Given the description of an element on the screen output the (x, y) to click on. 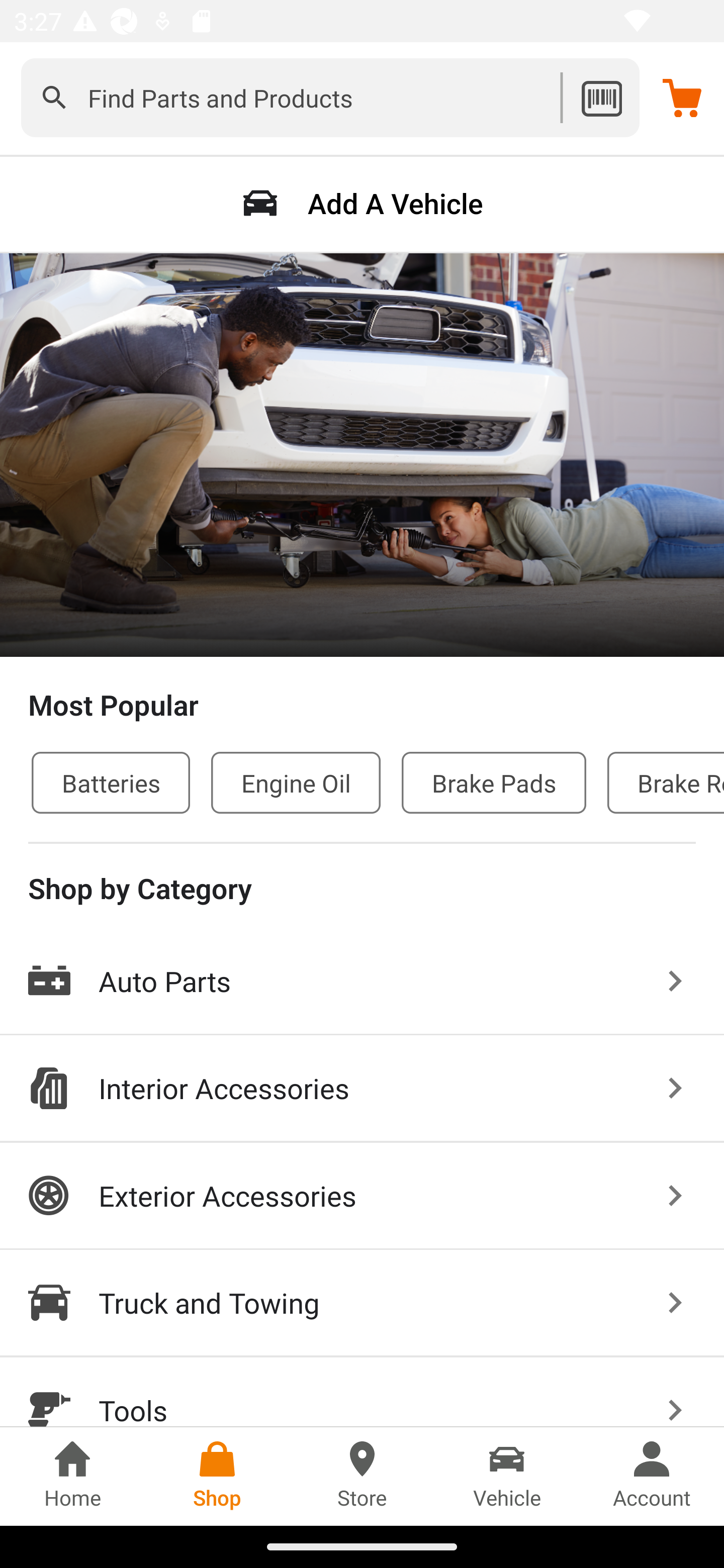
 scan-product-to-search  (601, 97)
 (54, 97)
Cart, no items  (681, 97)
add-vehicle-button  Add A Vehicle (362, 202)
Batteries (110, 782)
Engine Oil (295, 782)
Brake Pads (493, 782)
Brake Rotors (665, 782)
Auto Parts category  Auto Parts  (362, 981)
Truck and Towing category  Truck and Towing  (362, 1303)
Tools category  Tools  (362, 1391)
Home (72, 1475)
Shop (216, 1475)
Store (361, 1475)
Vehicle (506, 1475)
Account (651, 1475)
